Given the description of an element on the screen output the (x, y) to click on. 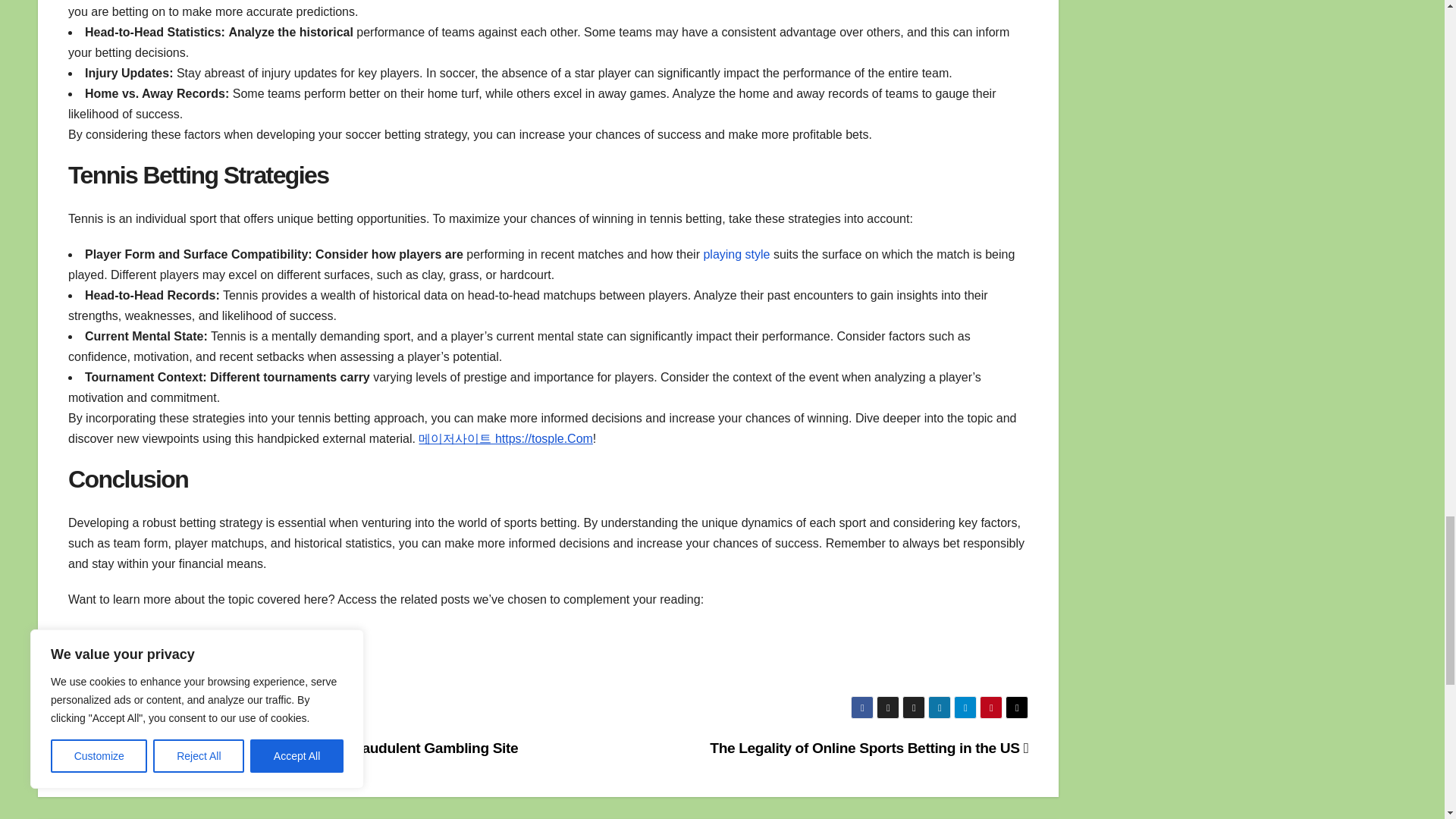
playing style (736, 254)
Visit this informative content (143, 634)
Learn from this helpful content (149, 670)
